Given the description of an element on the screen output the (x, y) to click on. 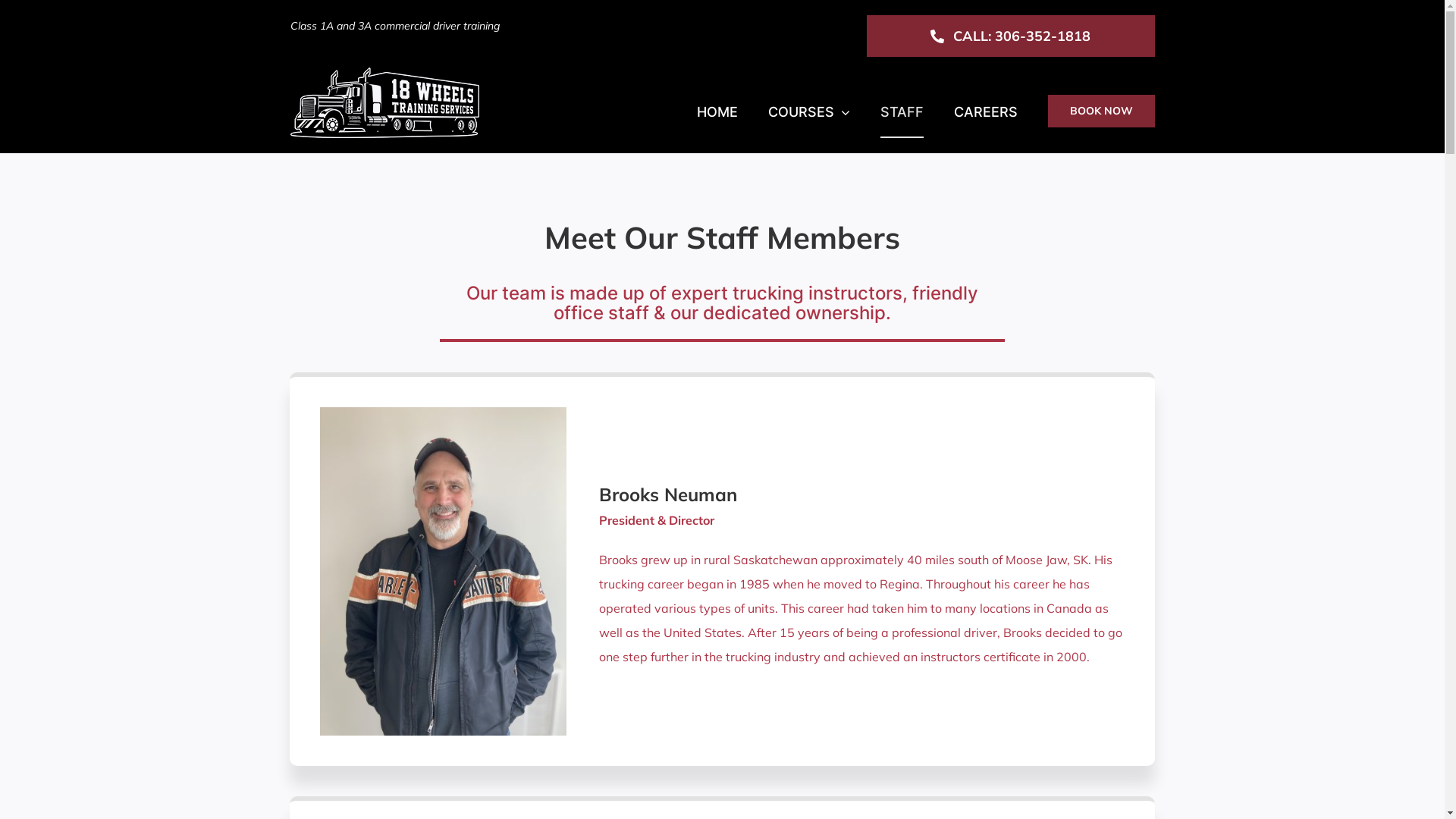
CAREERS Element type: text (985, 110)
HOME Element type: text (716, 110)
Brooks Element type: hover (443, 571)
STAFF Element type: text (900, 110)
CALL: 306-352-1818 Element type: text (1010, 35)
BOOK NOW Element type: text (1101, 110)
COURSES Element type: text (808, 110)
